Given the description of an element on the screen output the (x, y) to click on. 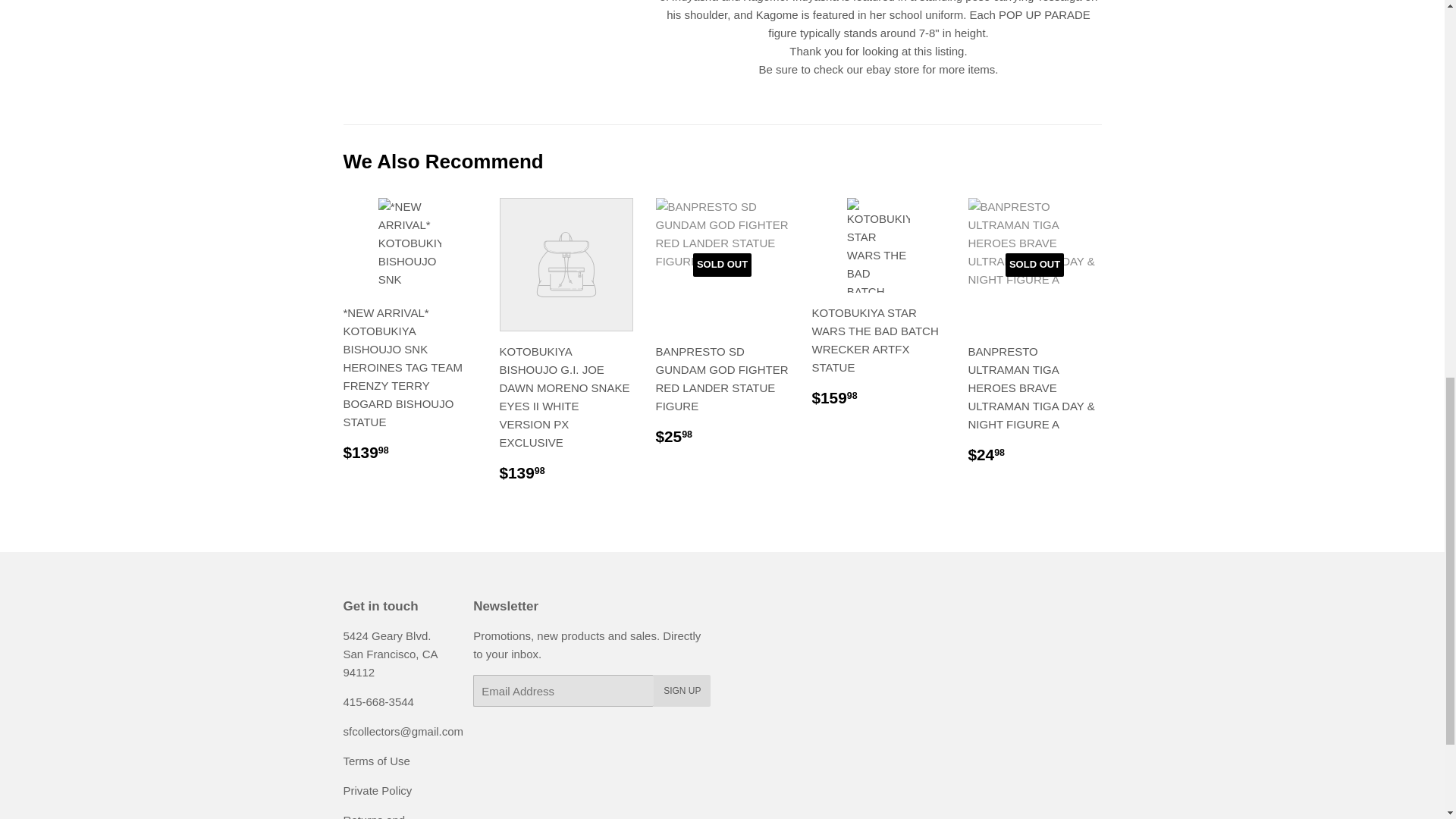
Privacy Policy (377, 789)
Terms of Service (375, 760)
Refund Policy (373, 816)
